Given the description of an element on the screen output the (x, y) to click on. 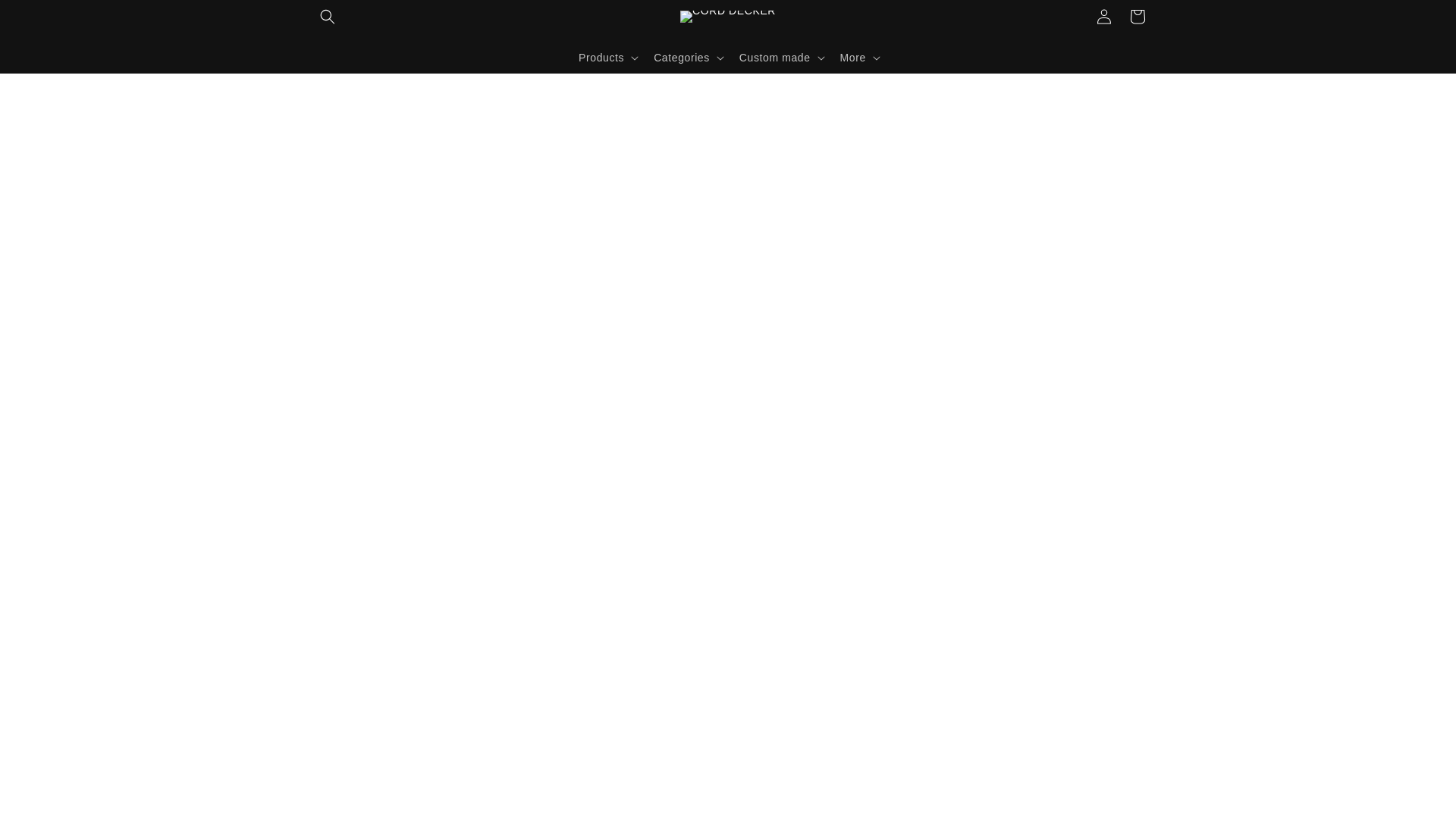
Skip to content (45, 17)
